Given the description of an element on the screen output the (x, y) to click on. 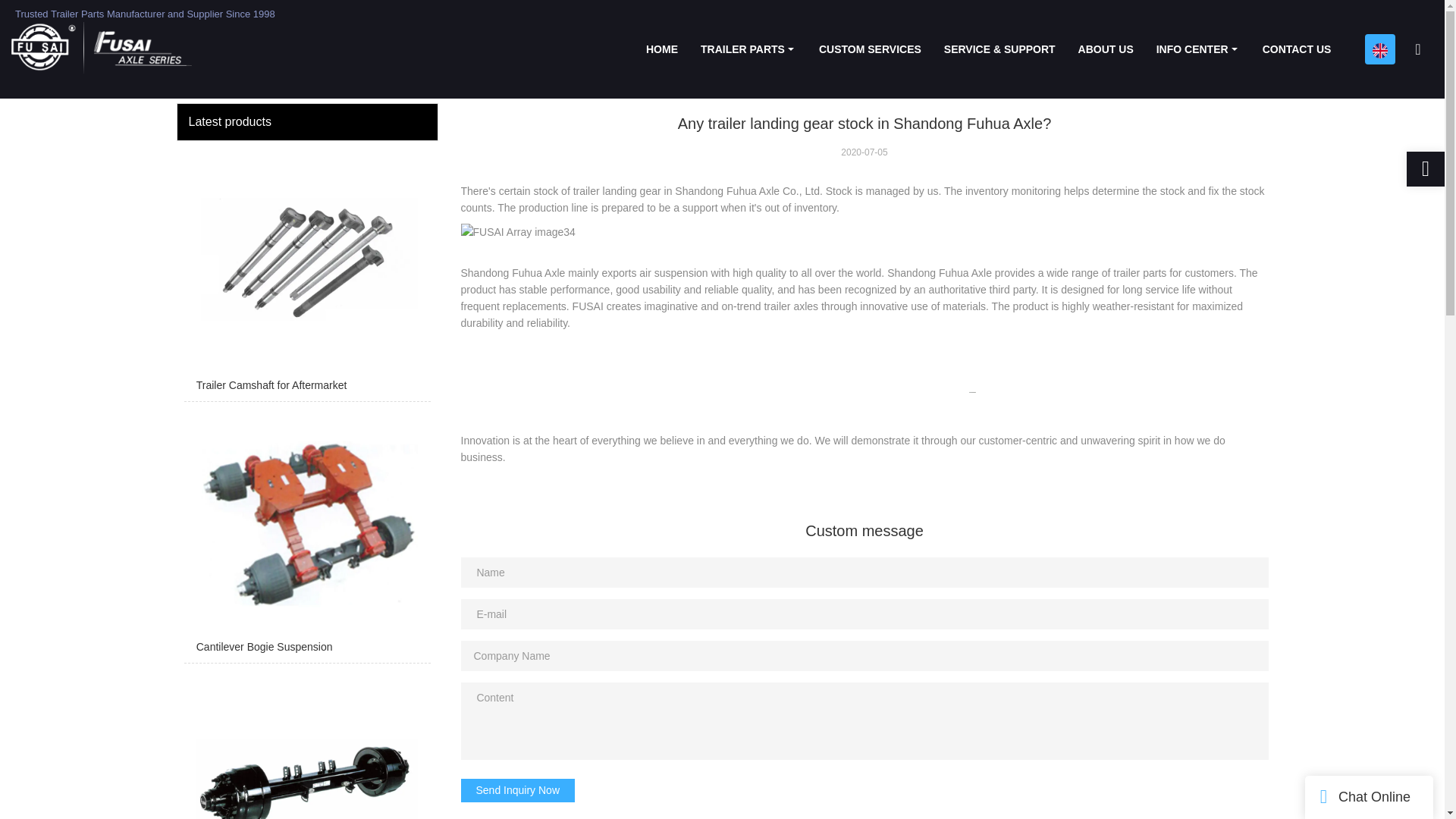
Send Inquiry Now (518, 790)
Cantilever Bogie Suspension (306, 535)
ABOUT US (1105, 49)
INFO CENTER (1197, 49)
American Outboard 16T (306, 744)
CUSTOM SERVICES (870, 49)
TRAILER PARTS (748, 49)
CONTACT US (1296, 49)
Trailer Camshaft for Aftermarket (306, 275)
